Given the description of an element on the screen output the (x, y) to click on. 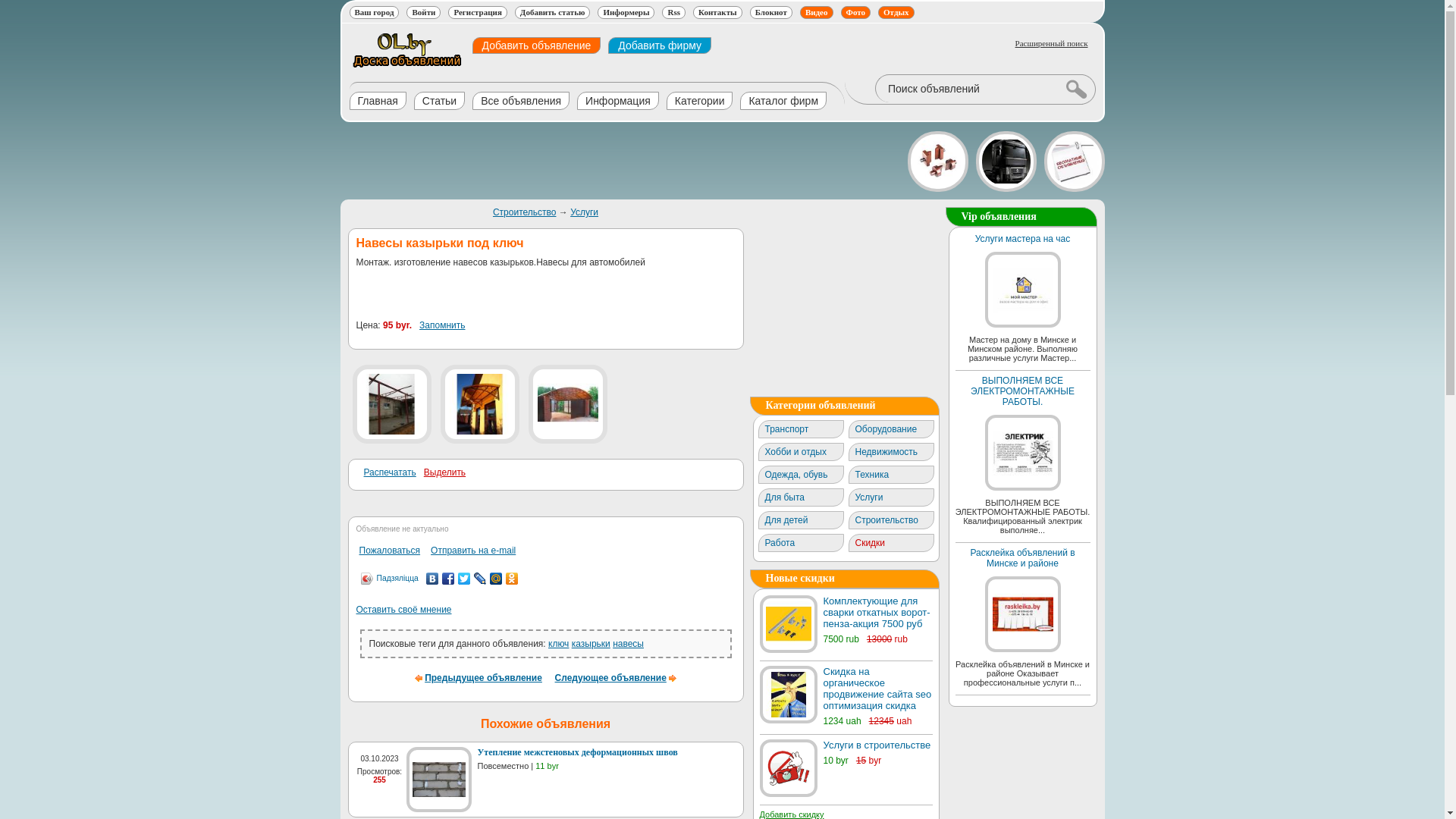
Advertisement Element type: hover (615, 160)
Advertisement Element type: hover (533, 297)
Twitter Element type: hover (464, 578)
Facebook Element type: hover (448, 578)
LiveJournal Element type: hover (480, 578)
Advertisement Element type: hover (843, 301)
Rss Element type: text (673, 12)
